Given the description of an element on the screen output the (x, y) to click on. 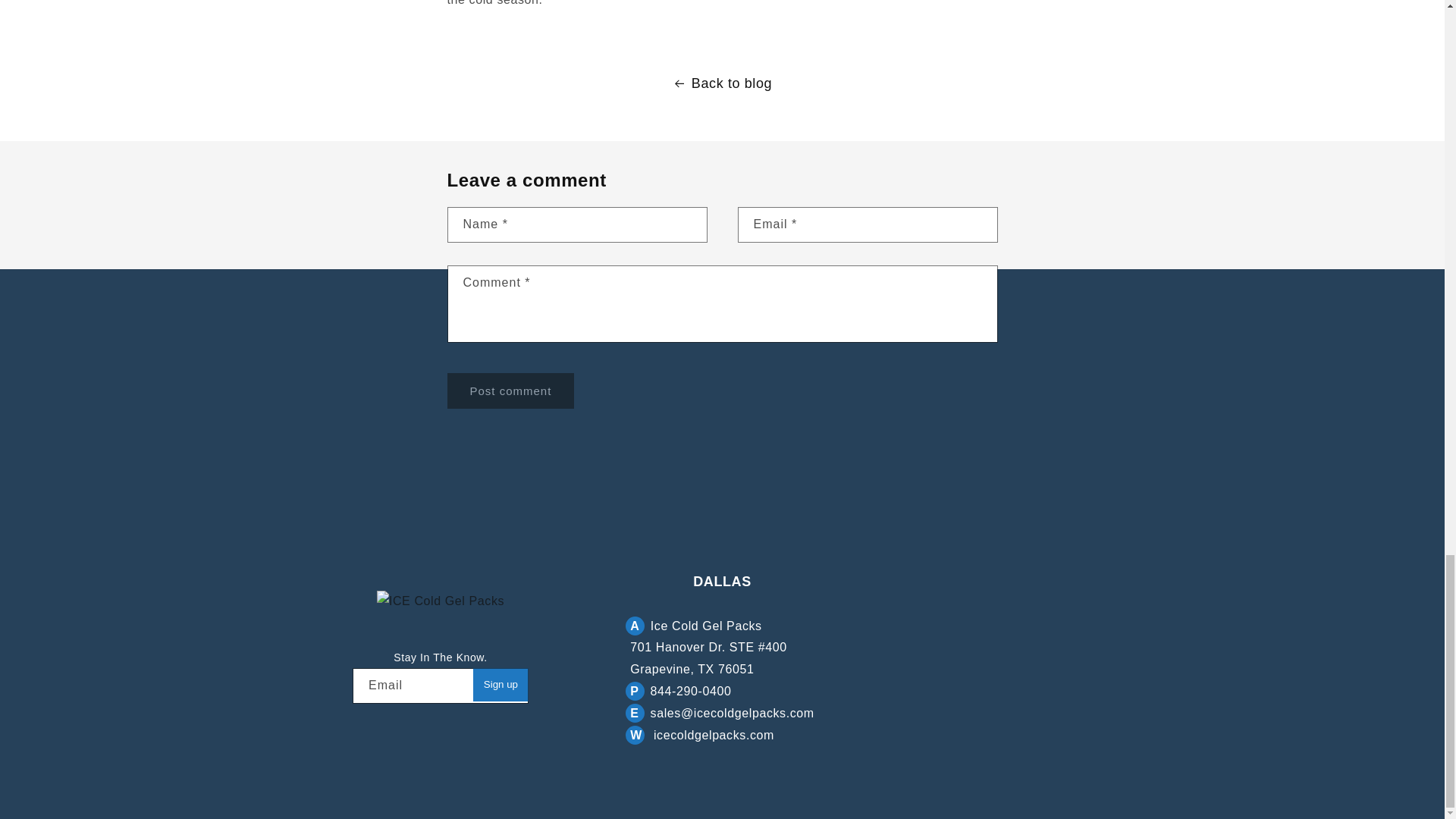
Sign up (500, 684)
Post comment (510, 390)
Post comment (510, 390)
